Given the description of an element on the screen output the (x, y) to click on. 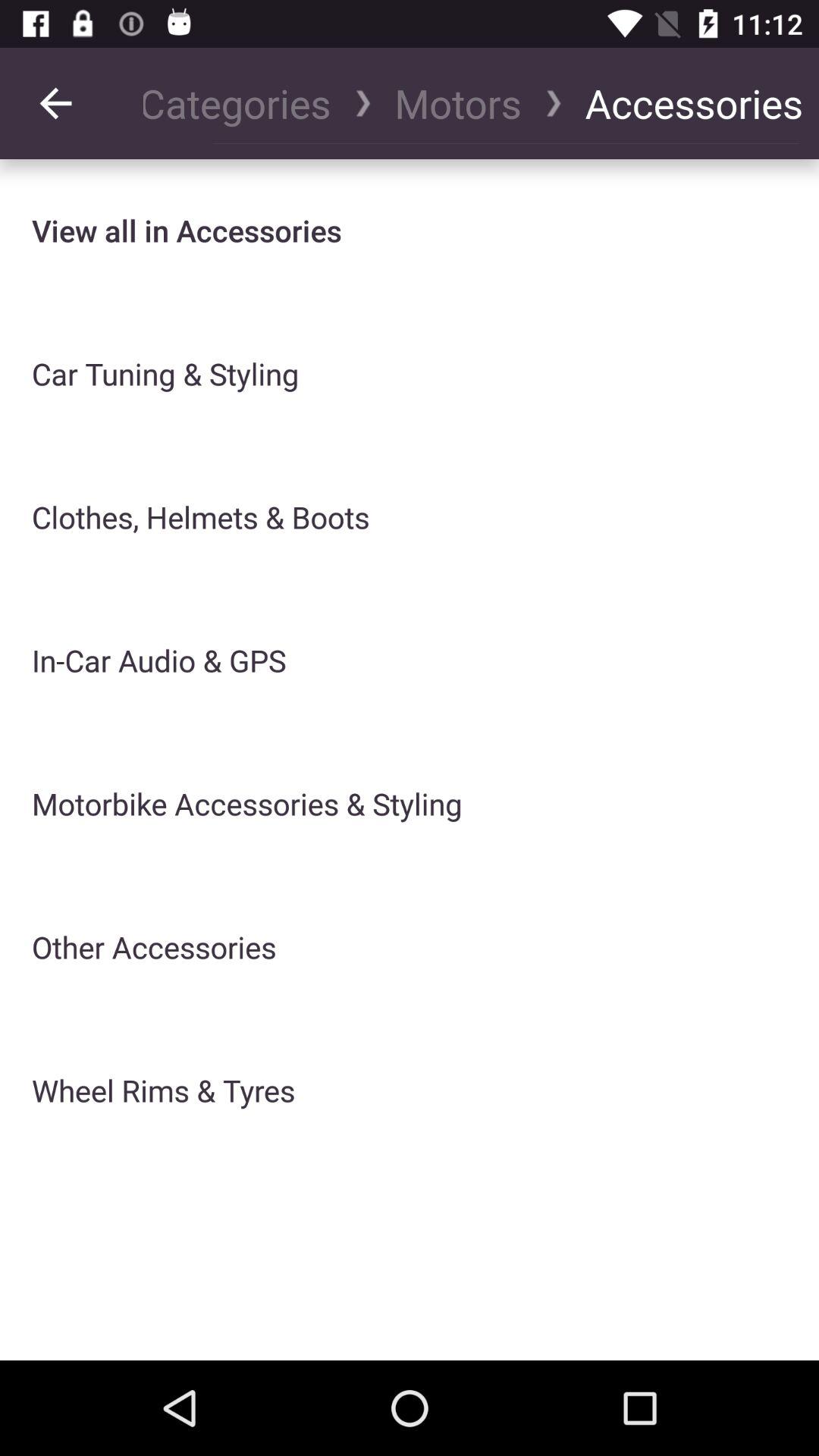
open item above car tuning & styling icon (186, 230)
